Given the description of an element on the screen output the (x, y) to click on. 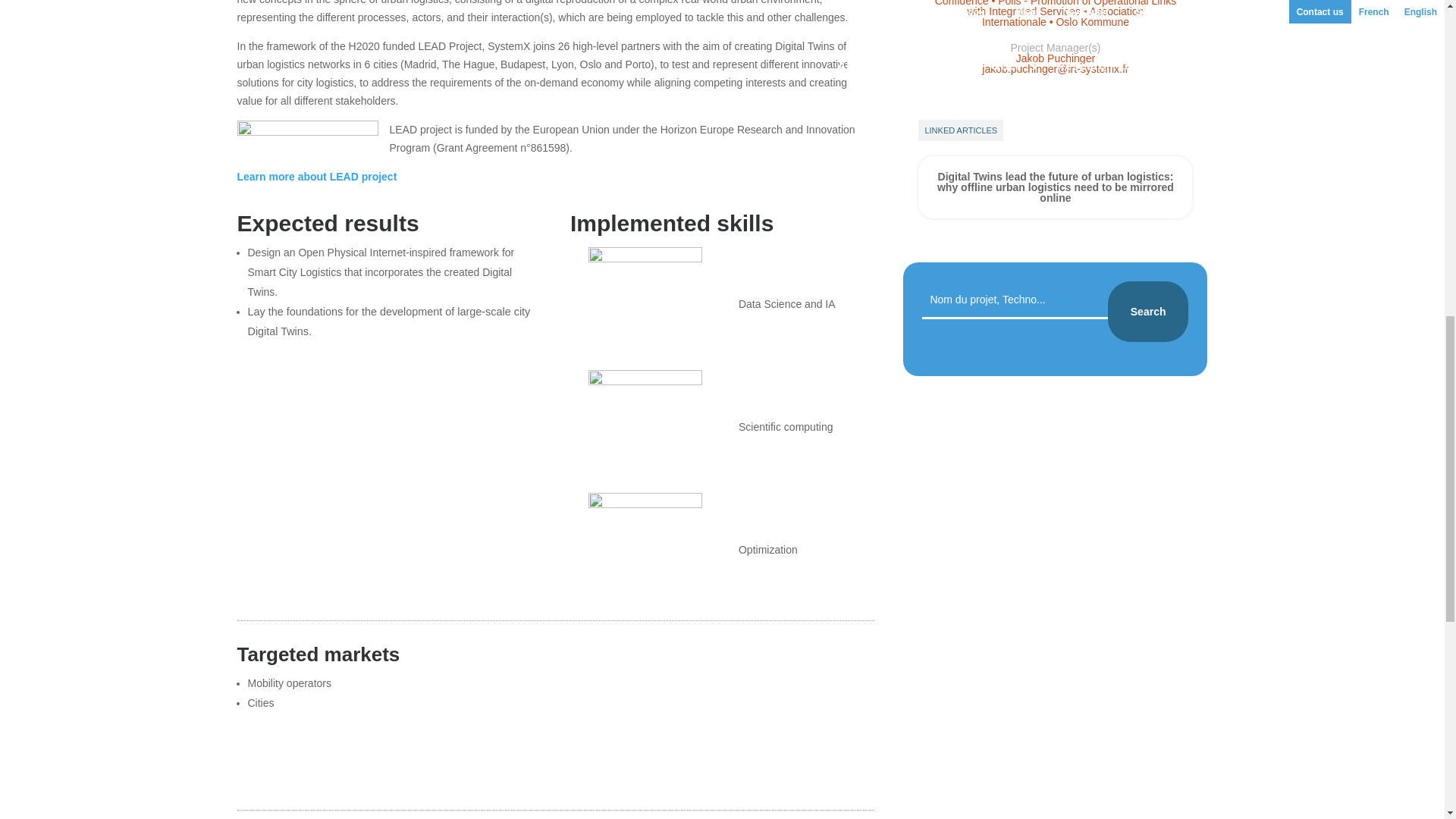
Search (1148, 311)
Search (1148, 311)
